Given the description of an element on the screen output the (x, y) to click on. 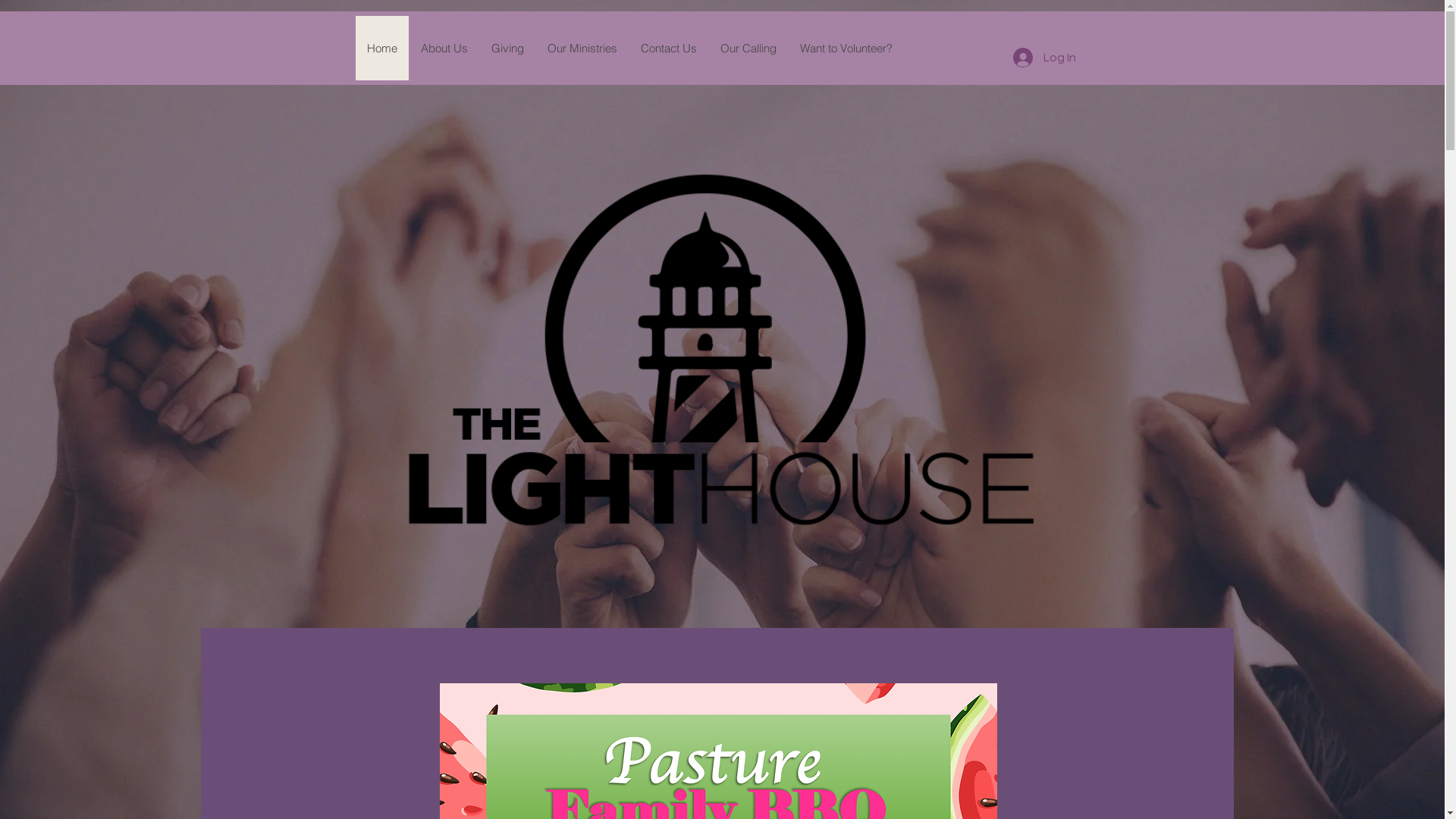
Home Element type: text (380, 47)
About Us Element type: text (442, 47)
Our Ministries Element type: text (581, 47)
Want to Volunteer? Element type: text (845, 47)
Giving Element type: text (507, 47)
Our Calling Element type: text (747, 47)
Log In Element type: text (1044, 57)
Contact Us Element type: text (667, 47)
